Given the description of an element on the screen output the (x, y) to click on. 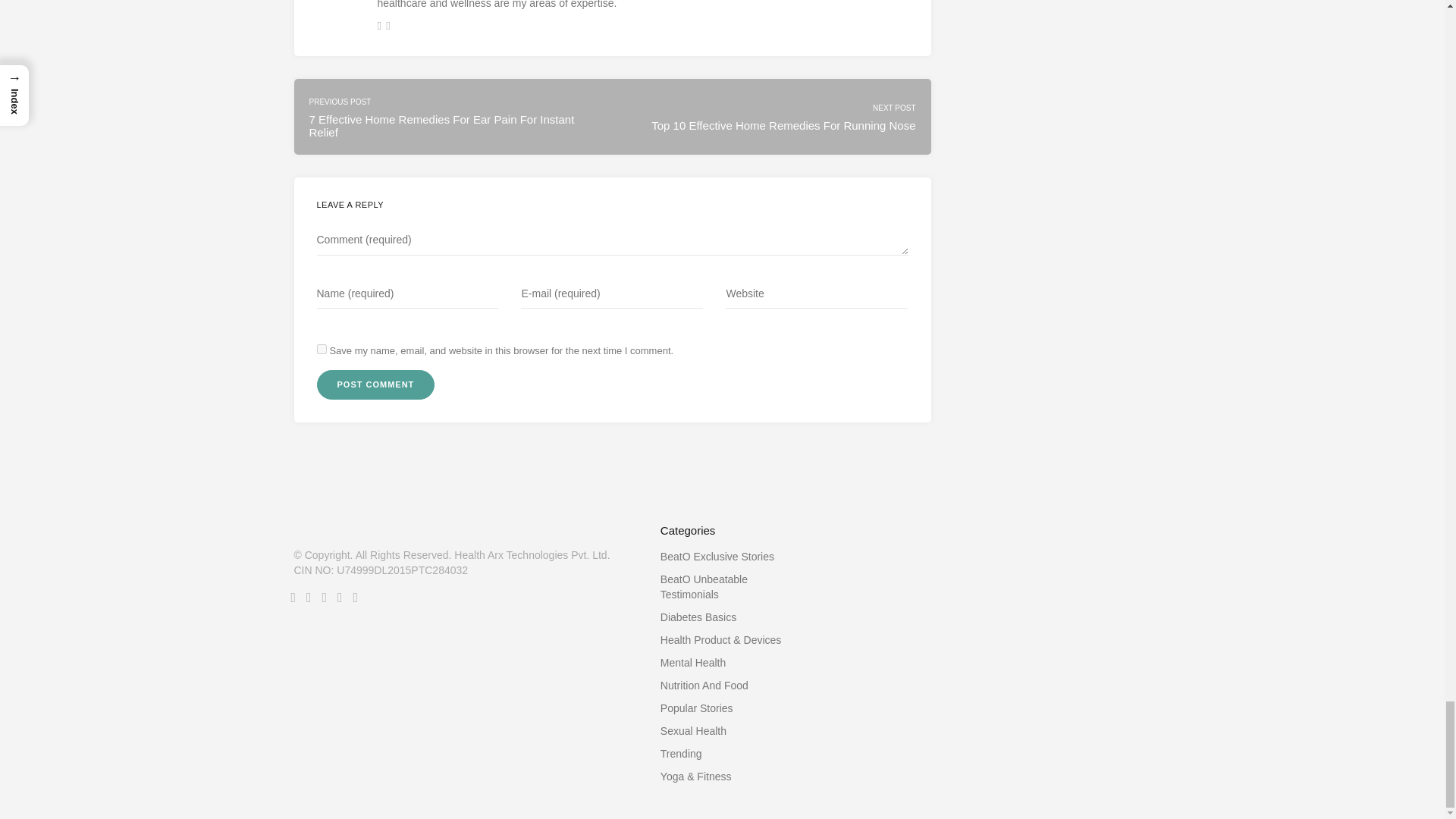
yes (321, 348)
Post Comment (376, 384)
